Given the description of an element on the screen output the (x, y) to click on. 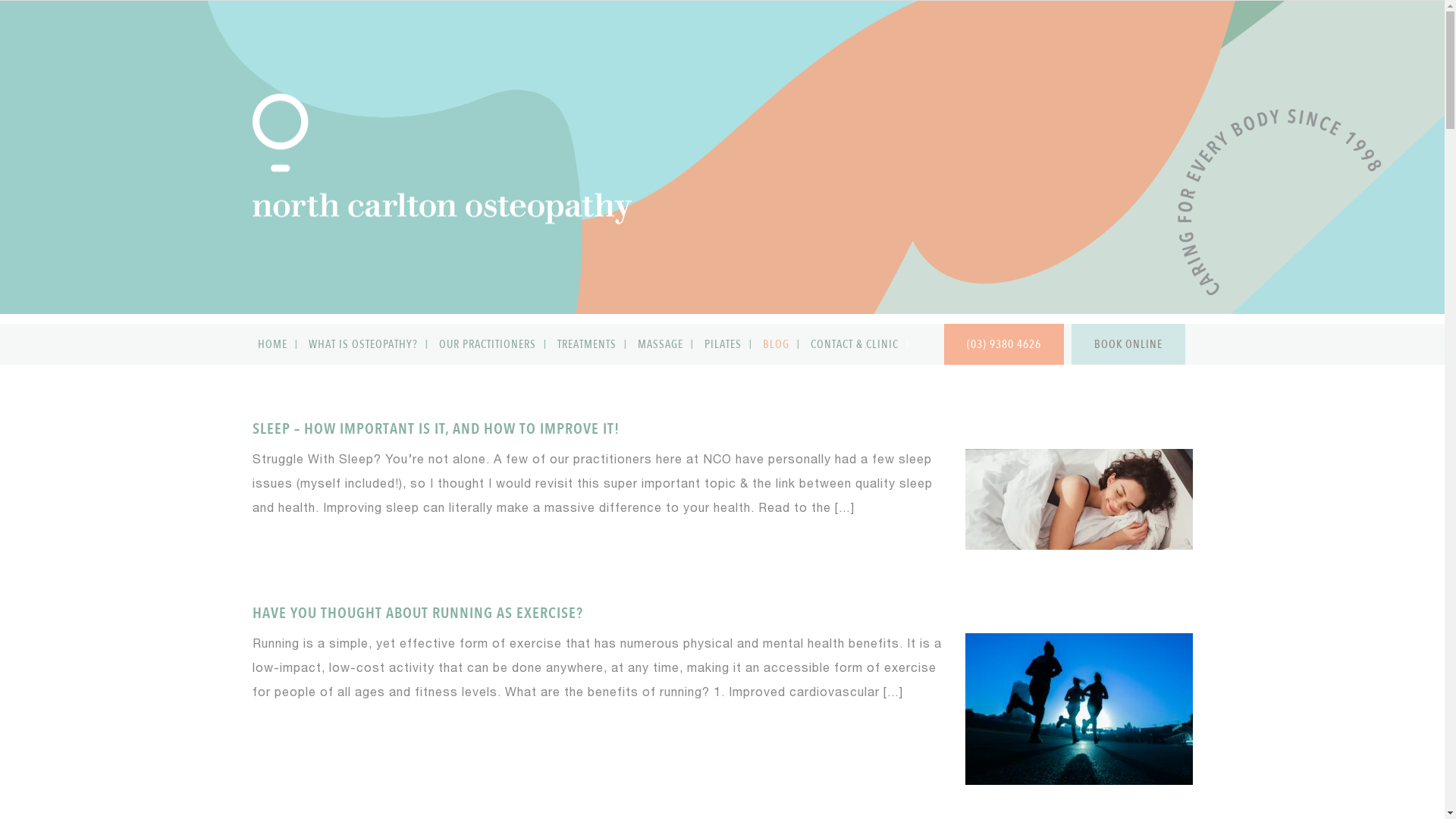
OUR PRACTITIONERS Element type: text (490, 344)
CONTACT & CLINIC Element type: text (857, 344)
PILATES Element type: text (726, 344)
TREATMENTS Element type: text (590, 344)
MASSAGE Element type: text (663, 344)
BOOK ONLINE Element type: text (1127, 344)
(03) 9380 4626 Element type: text (1003, 344)
HOME Element type: text (274, 344)
BLOG Element type: text (778, 344)
WHAT IS OSTEOPATHY? Element type: text (366, 344)
HAVE YOU THOUGHT ABOUT RUNNING AS EXERCISE? Element type: text (416, 612)
